Given the description of an element on the screen output the (x, y) to click on. 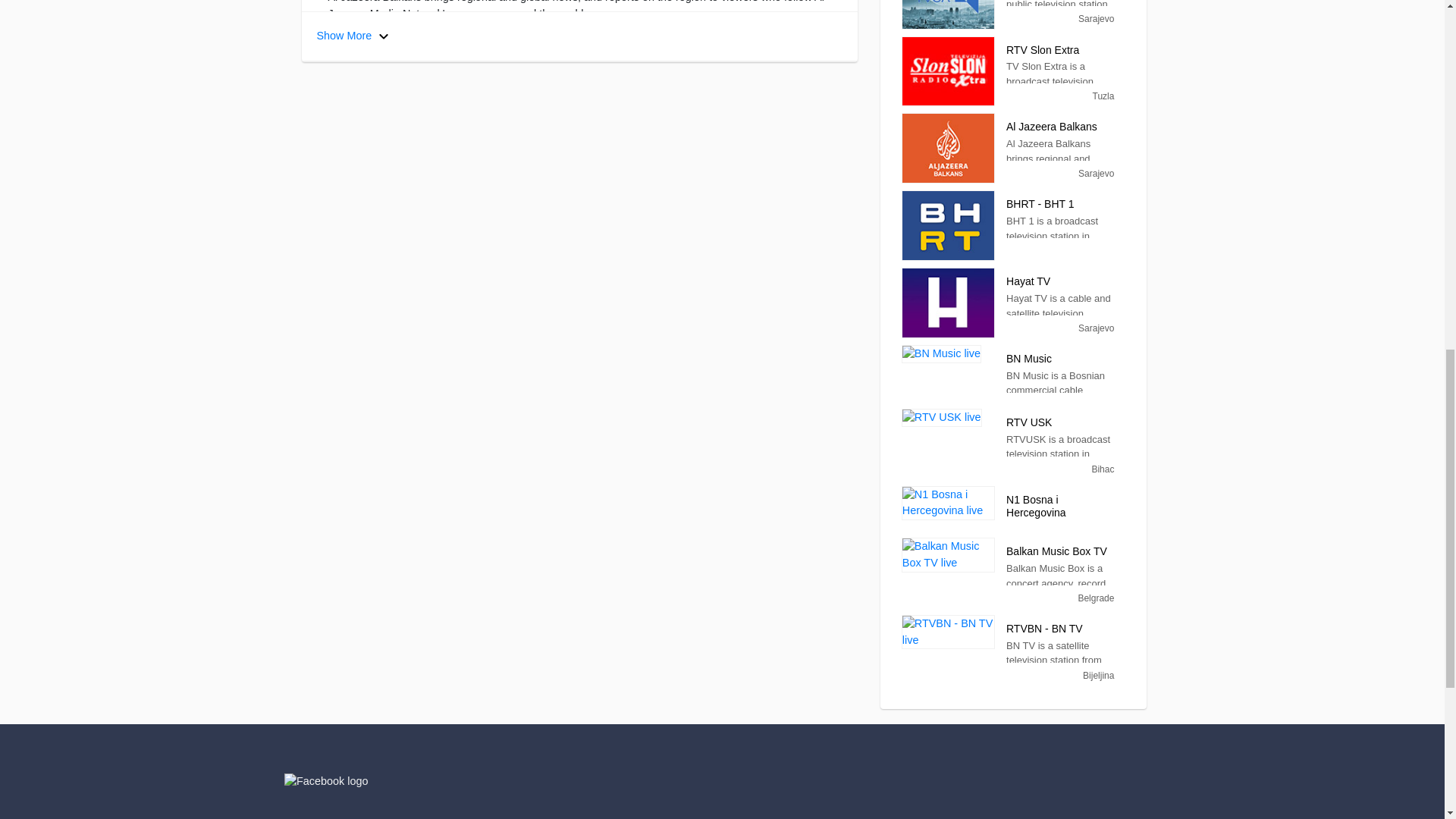
Balkan Music Box TV (947, 554)
BHRT - BHT 1 (947, 225)
Hayat TV (947, 302)
Al Jazeera Balkans (947, 148)
RTVBN - BN TV (947, 632)
N1 Bosna i Hercegovina (947, 503)
Show More (355, 36)
RTV Slon Extra (947, 71)
